Given the description of an element on the screen output the (x, y) to click on. 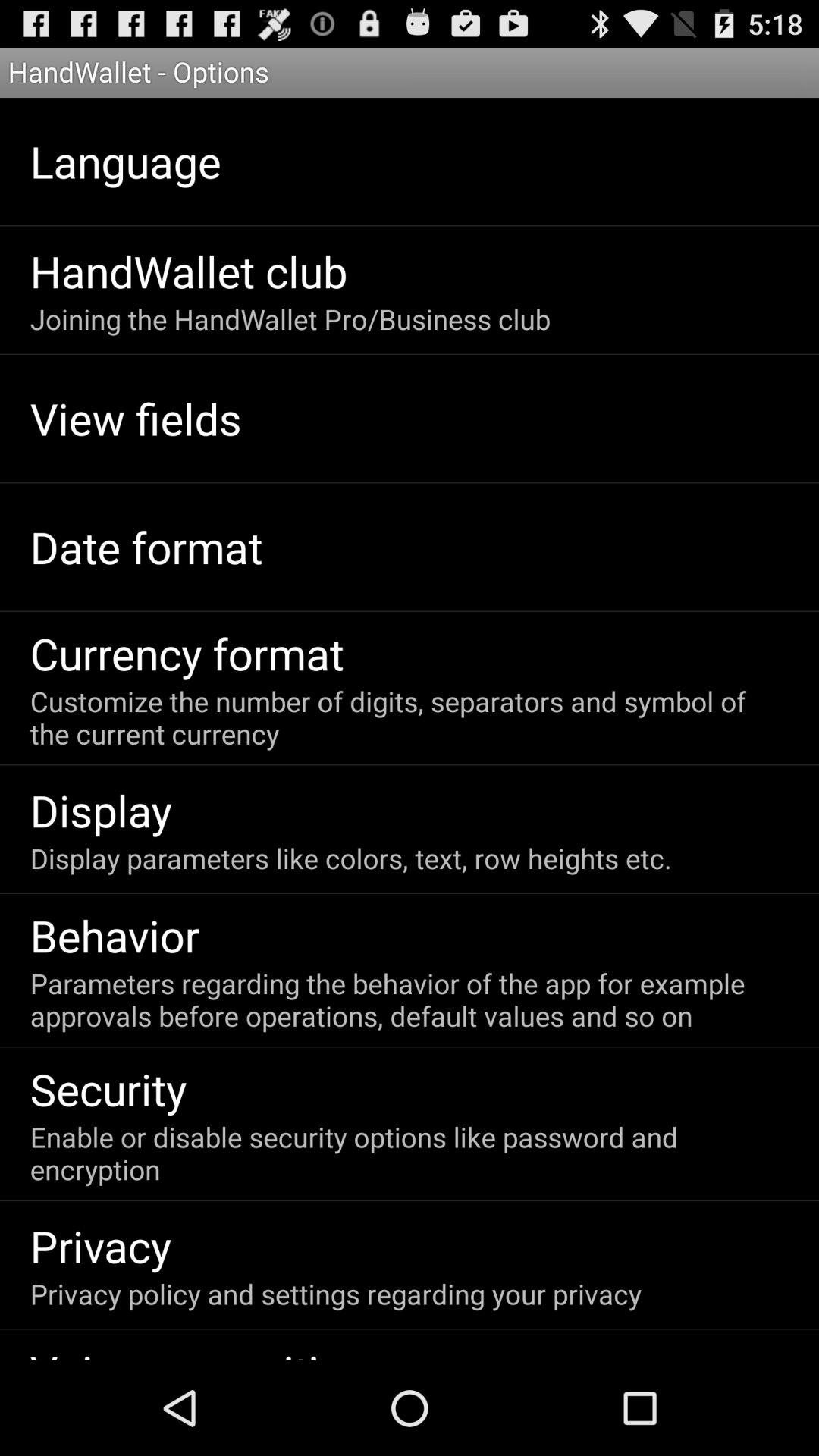
open icon below the privacy app (335, 1293)
